Given the description of an element on the screen output the (x, y) to click on. 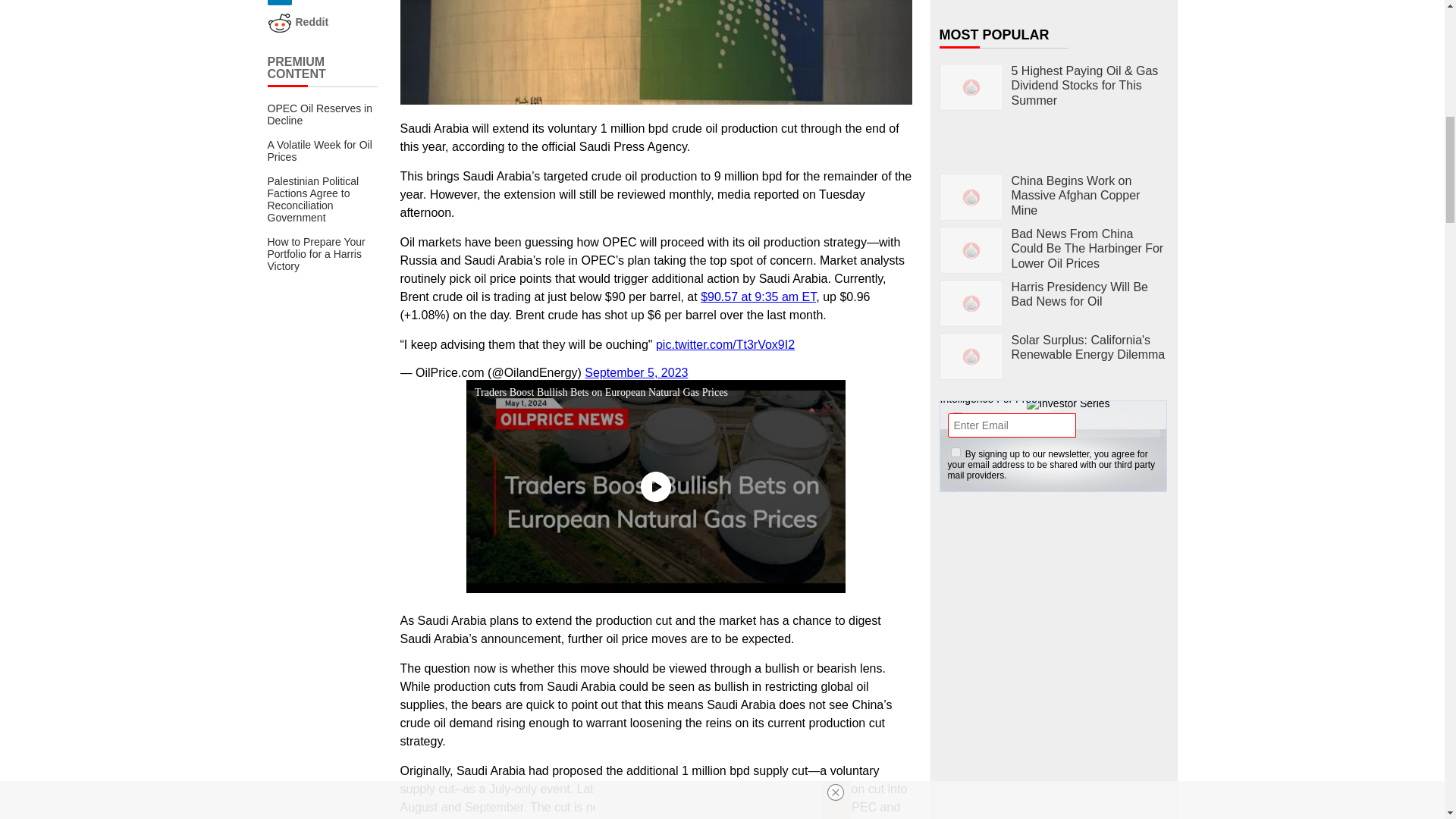
Aramco (656, 52)
1 (955, 452)
3rd party ad content (1053, 599)
